Given the description of an element on the screen output the (x, y) to click on. 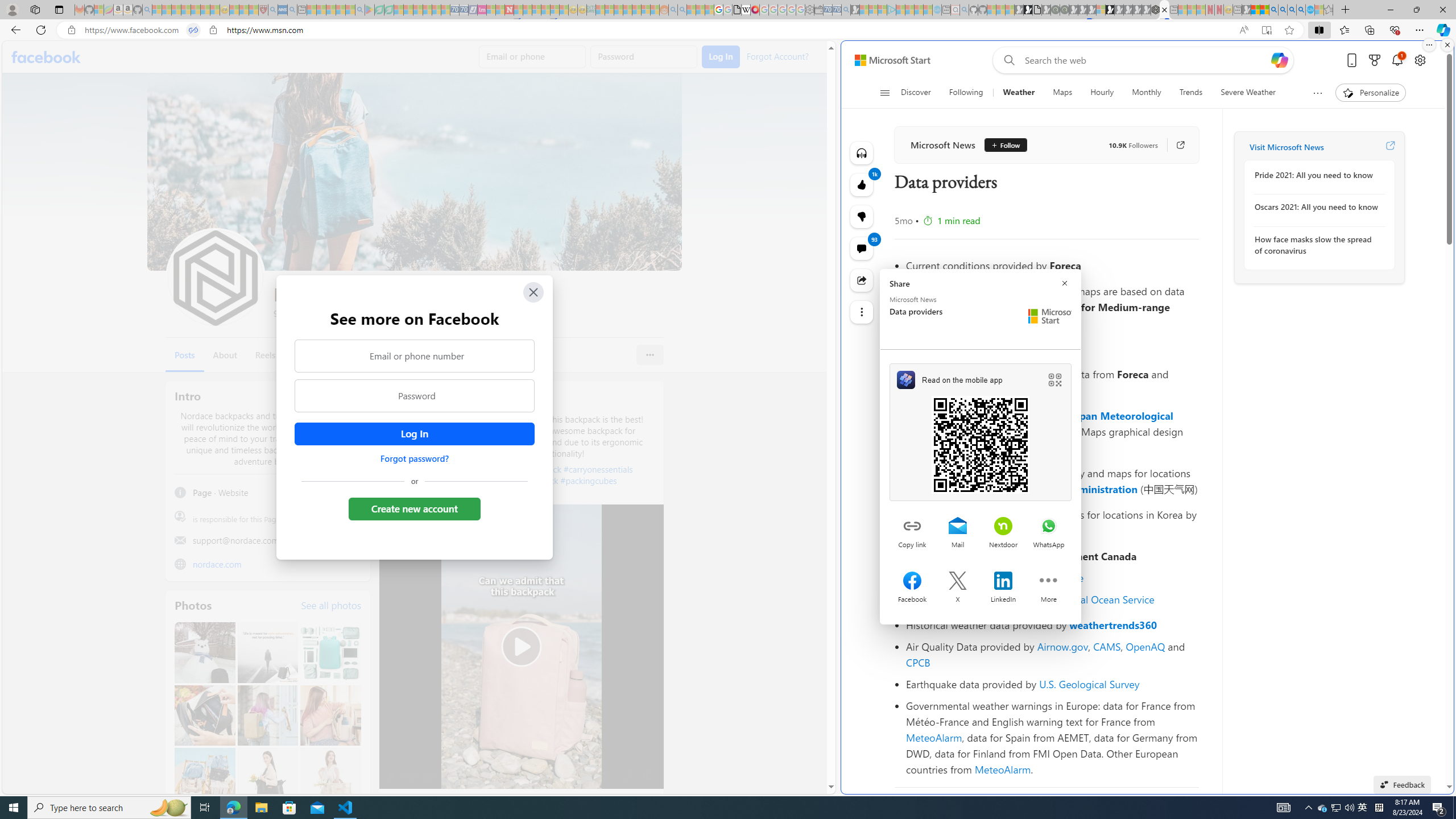
Kweather (928, 530)
utah sues federal government - Search - Sleeping (291, 9)
Create new account (413, 508)
Pride 2021: All you need to know (1316, 174)
Japan Meteorological Agency (1039, 423)
Visit Microsoft News website (1390, 146)
